Given the description of an element on the screen output the (x, y) to click on. 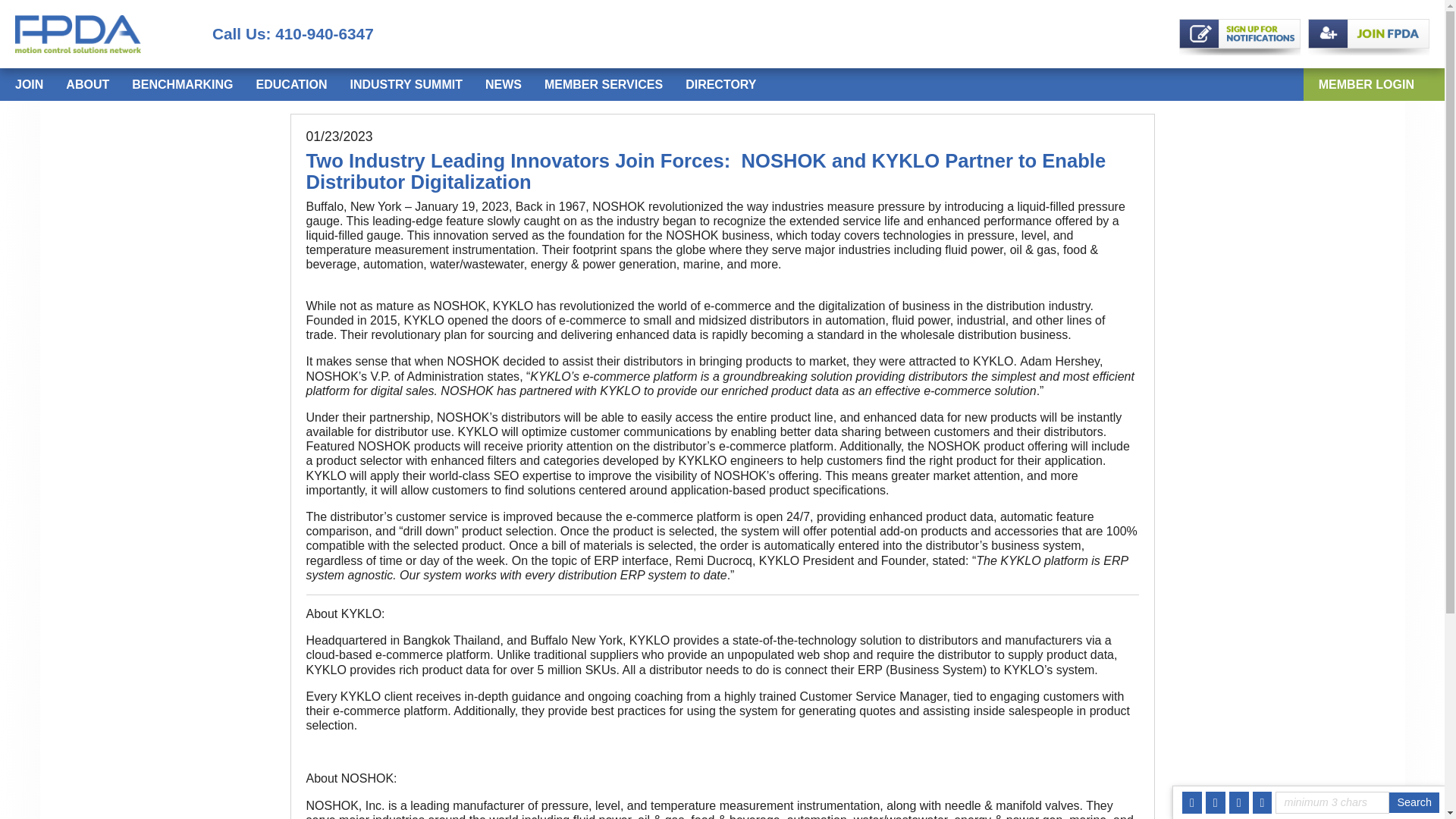
DIRECTORY (720, 83)
ABOUT (87, 83)
BENCHMARKING (182, 83)
MEMBER SERVICES (603, 83)
Search (1414, 802)
NEWS (502, 83)
EDUCATION (291, 83)
Search (1414, 802)
INDUSTRY SUMMIT (405, 83)
